Given the description of an element on the screen output the (x, y) to click on. 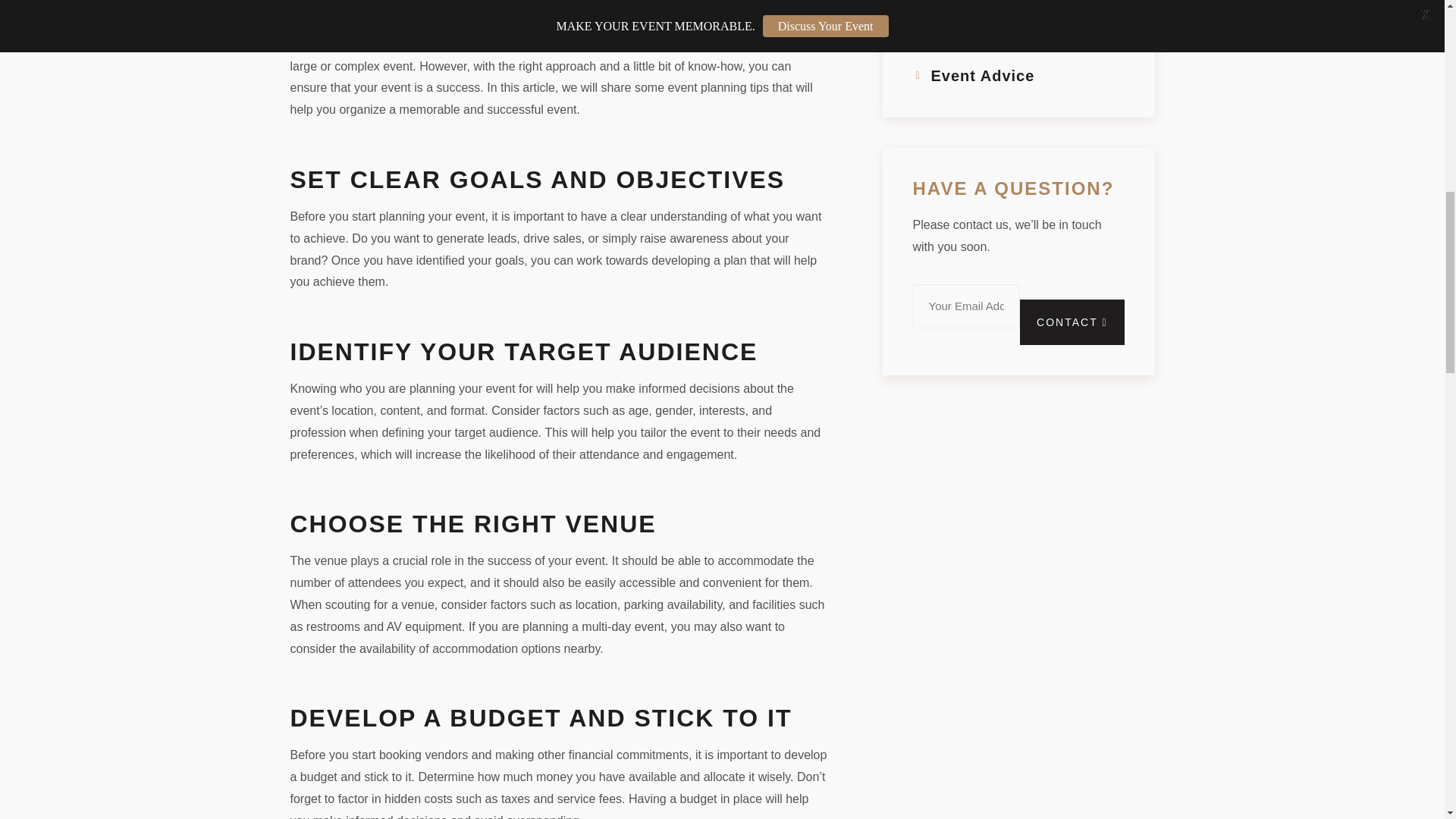
Event Advice (973, 75)
CONTACT (1072, 321)
